Given the description of an element on the screen output the (x, y) to click on. 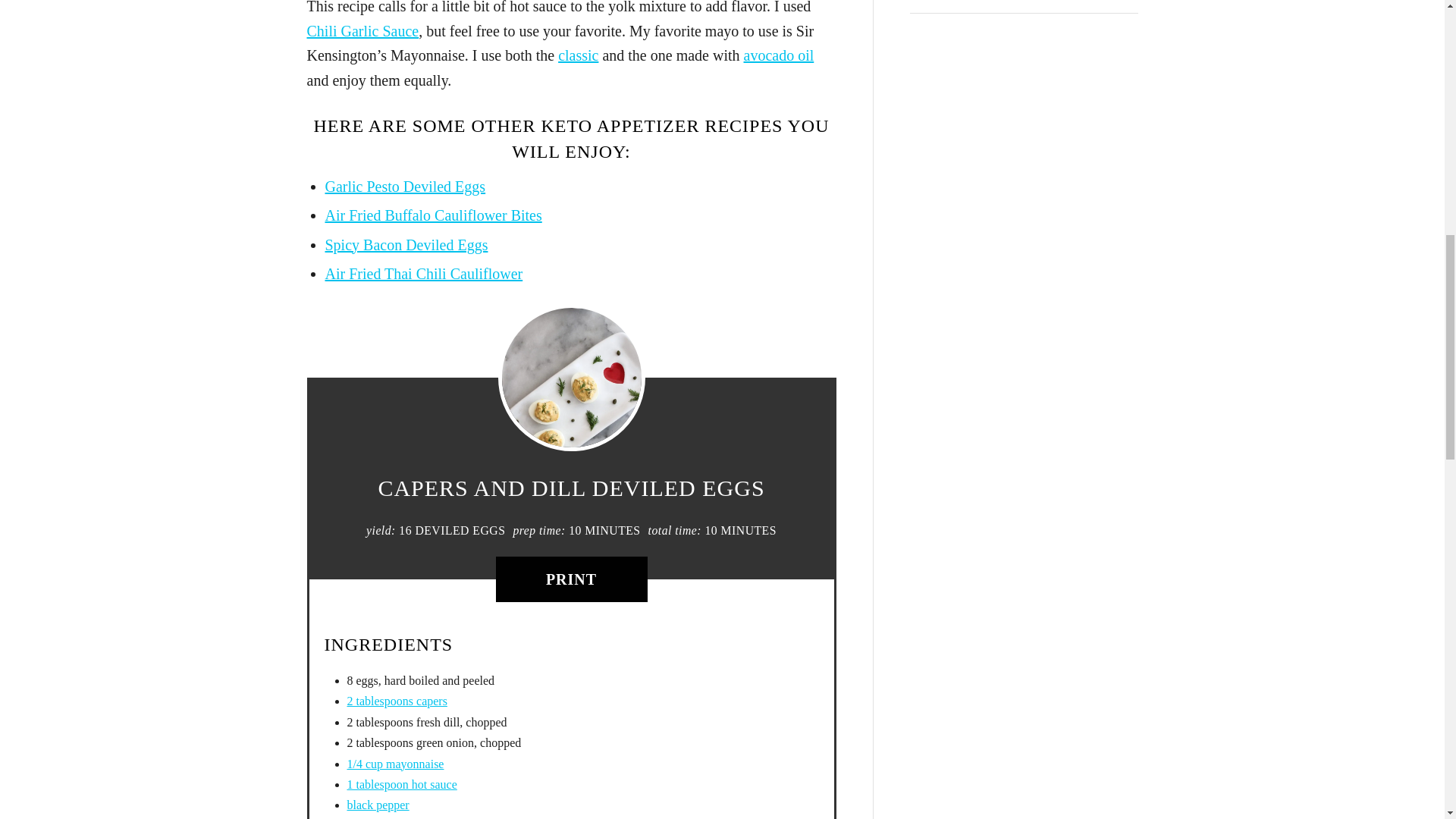
Garlic Pesto Deviled Eggs (404, 186)
classic (577, 54)
Spicy Bacon Deviled Eggs (405, 244)
avocado oil (777, 54)
black pepper (378, 804)
2 tablespoons capers (396, 700)
1 tablespoon hot sauce (402, 784)
Air Fried Buffalo Cauliflower Bites (432, 215)
PRINT (571, 578)
Chili Garlic Sauce (362, 30)
